Given the description of an element on the screen output the (x, y) to click on. 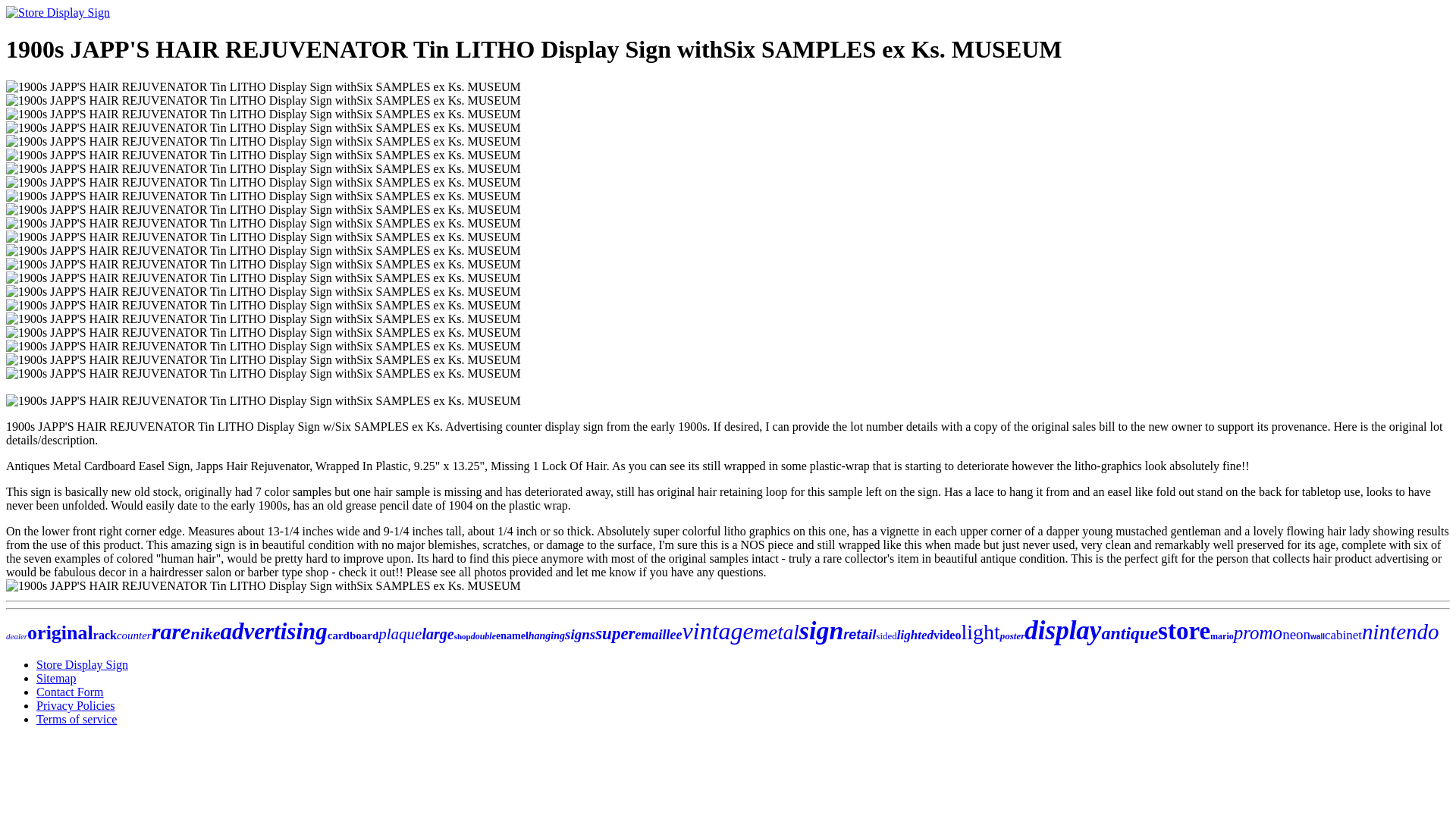
enamel (512, 635)
rack (104, 634)
original (60, 632)
emaillee (658, 634)
cardboard (352, 635)
